Given the description of an element on the screen output the (x, y) to click on. 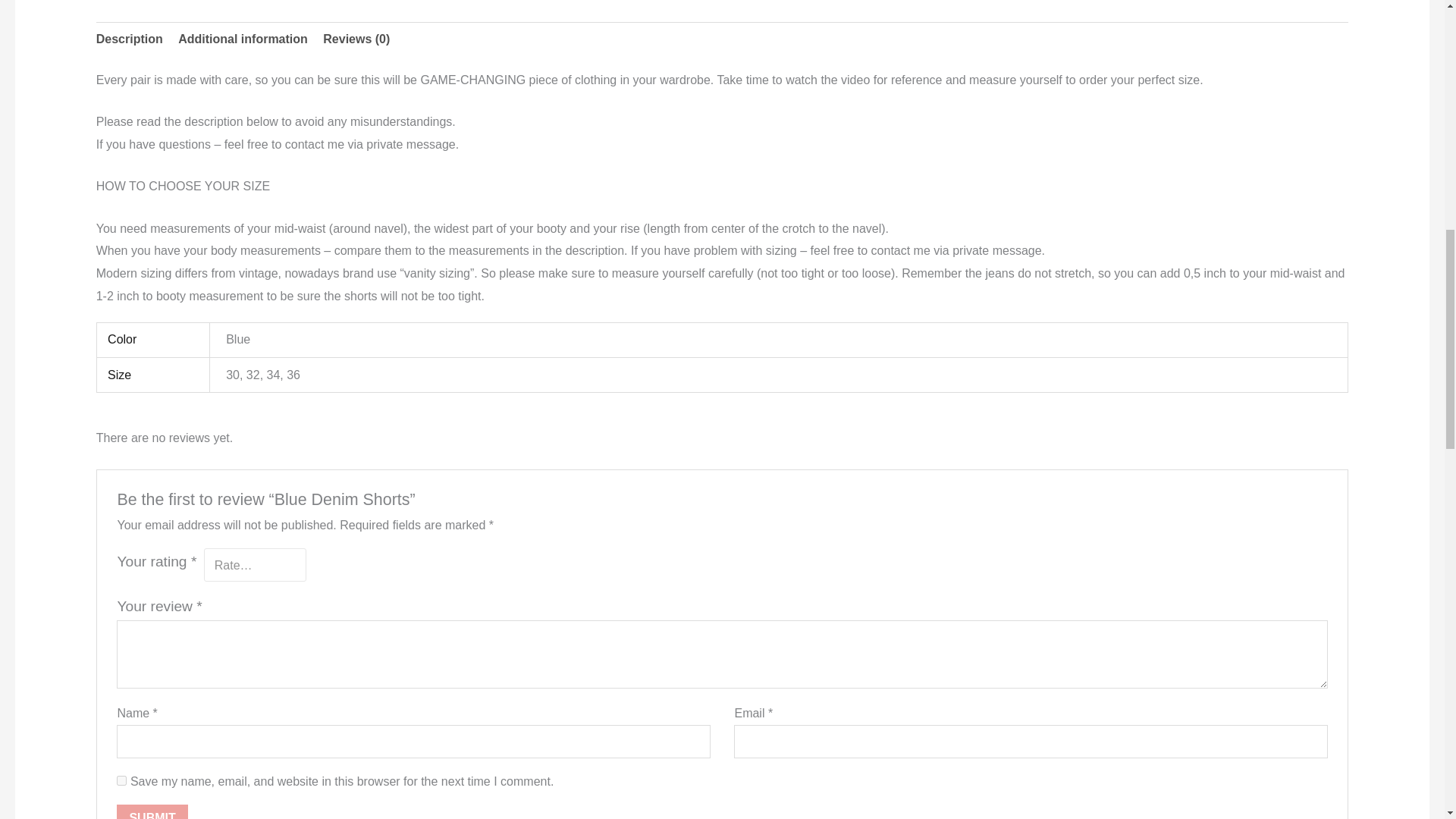
Description (129, 39)
Submit (151, 811)
yes (121, 780)
Submit (151, 811)
Additional information (242, 39)
